Given the description of an element on the screen output the (x, y) to click on. 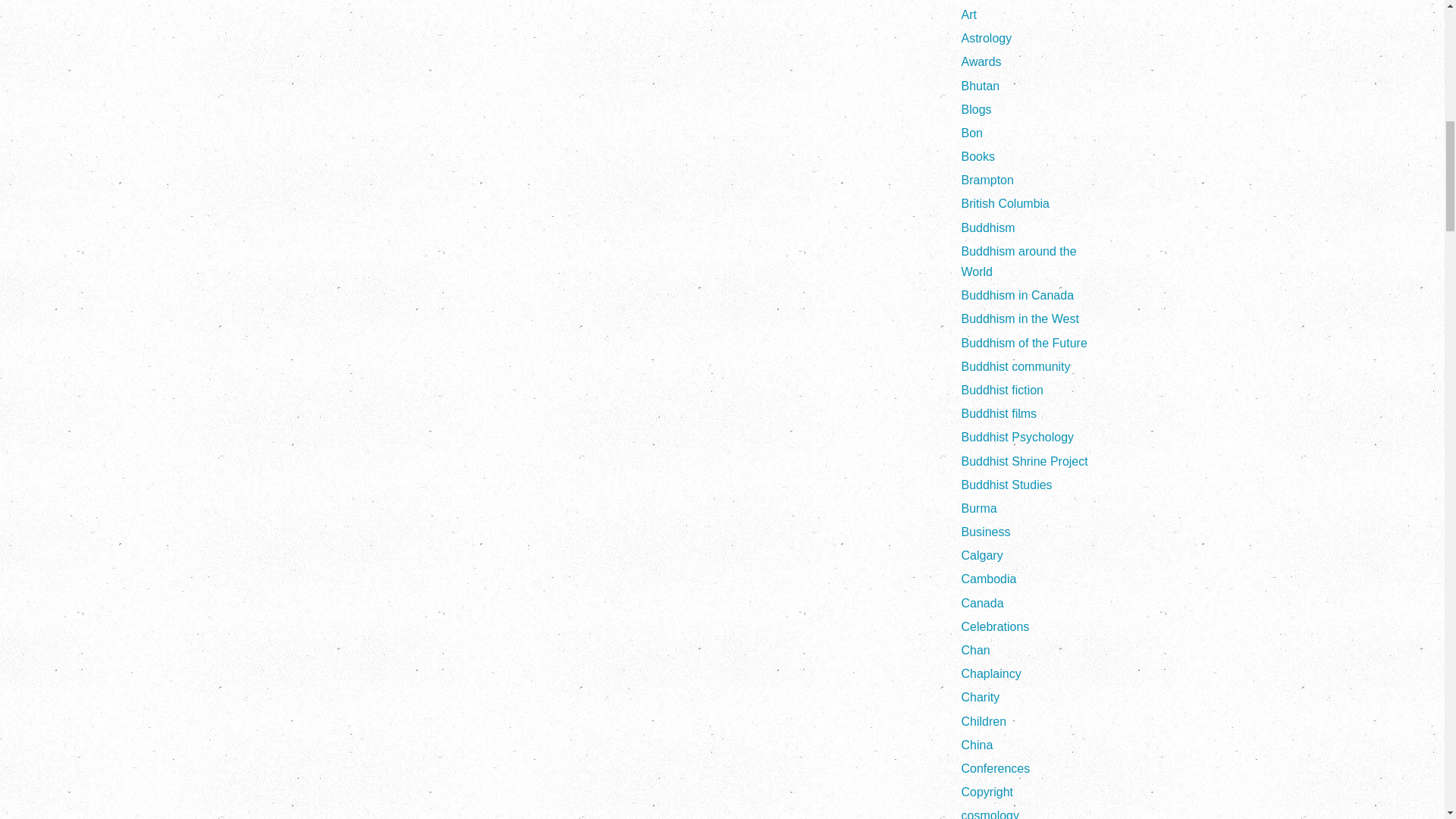
Show articles tagged Bhutan (980, 85)
Show articles tagged Brampton (986, 179)
Show articles tagged Bon (971, 132)
Show articles tagged Astrology (985, 38)
Show articles tagged Books (977, 155)
Show articles tagged British Columbia (1004, 203)
Show articles tagged Buddhism (987, 227)
Show articles tagged Blogs (975, 109)
Show articles tagged Art (968, 14)
Show articles tagged Awards (980, 61)
